Given the description of an element on the screen output the (x, y) to click on. 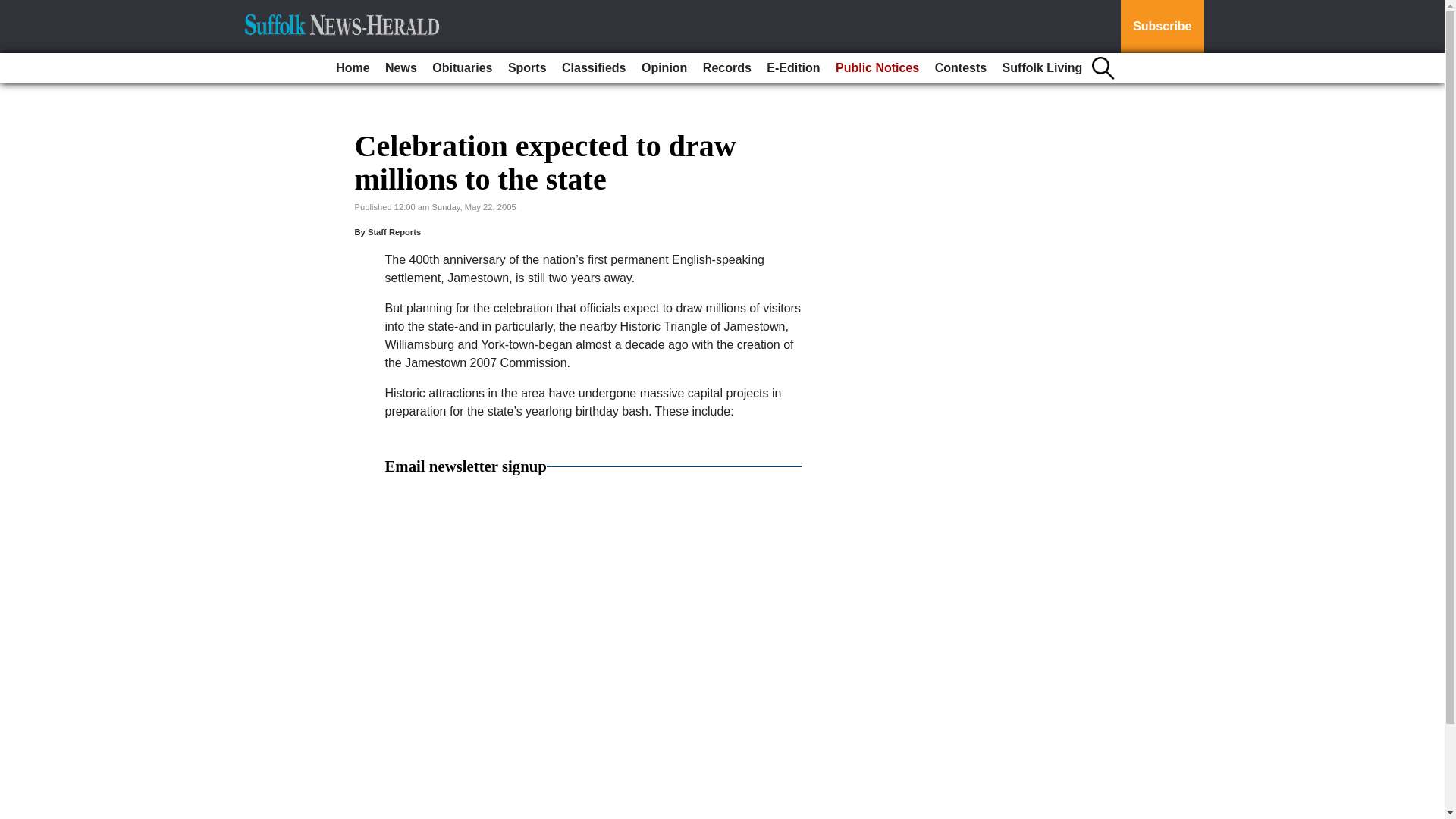
News (400, 68)
Staff Reports (394, 231)
Records (727, 68)
Contests (960, 68)
Home (352, 68)
Opinion (663, 68)
Obituaries (461, 68)
Public Notices (876, 68)
Go (13, 9)
Sports (527, 68)
